Given the description of an element on the screen output the (x, y) to click on. 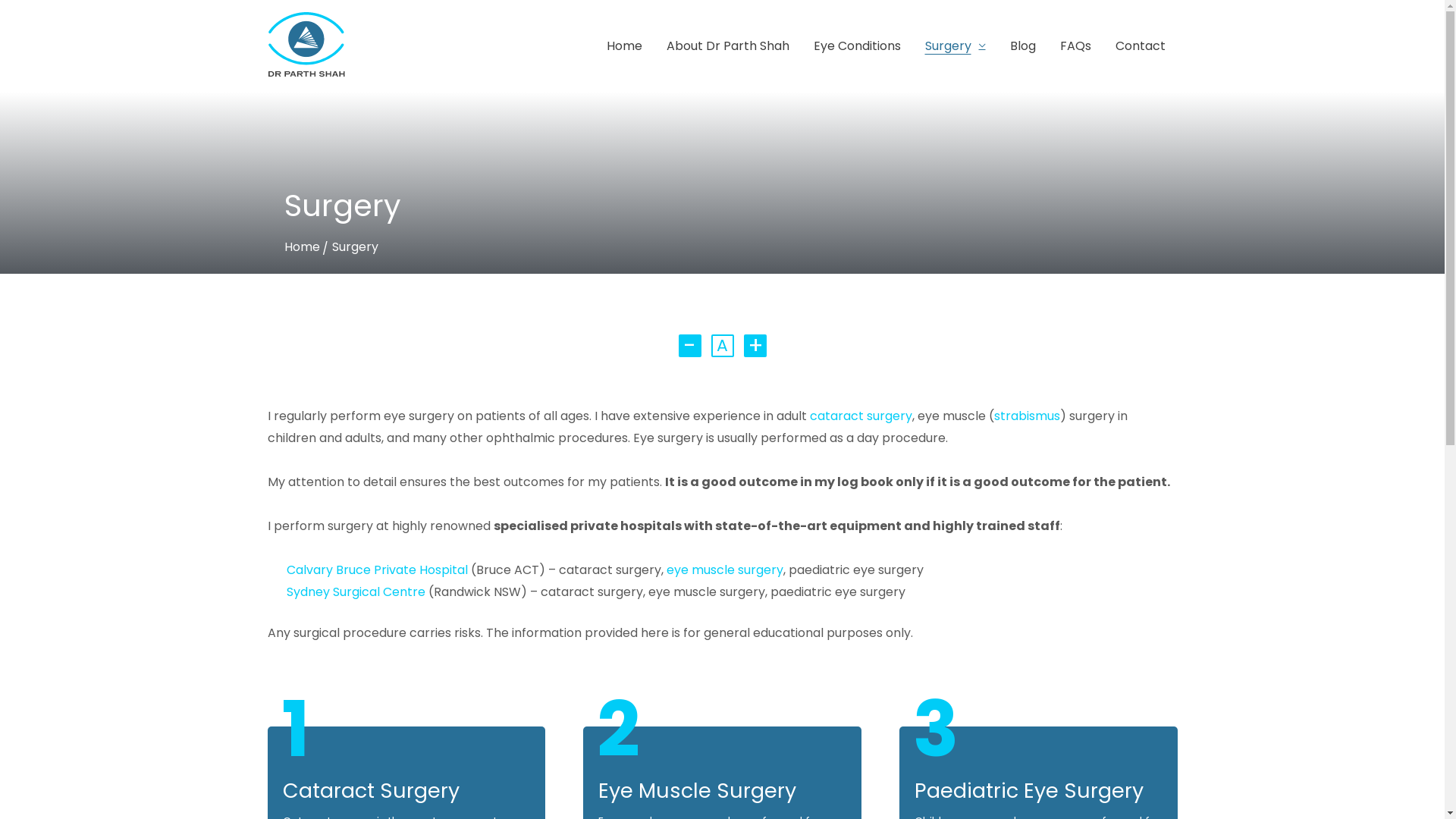
About Dr Parth Shah Element type: text (726, 45)
strabismus Element type: text (1026, 415)
Home Element type: text (624, 45)
Surgery Element type: text (955, 45)
cataract surgery Element type: text (860, 415)
A
Increase font size. Element type: text (750, 345)
A
Reset font size. Element type: text (722, 345)
Sydney Surgical Centre Element type: text (357, 591)
A
Decrease font size. Element type: text (692, 345)
eye muscle surgery Element type: text (723, 569)
Calvary Bruce Private Hospital Element type: text (376, 569)
FAQs Element type: text (1075, 45)
Cataract Surgery Element type: text (370, 790)
Eye Conditions Element type: text (856, 45)
Blog Element type: text (1022, 45)
Surgery Element type: text (355, 246)
Paediatric Eye Surgery Element type: text (1028, 790)
Eye Muscle Surgery Element type: text (697, 790)
Home Element type: text (302, 246)
Contact Element type: text (1139, 45)
